Given the description of an element on the screen output the (x, y) to click on. 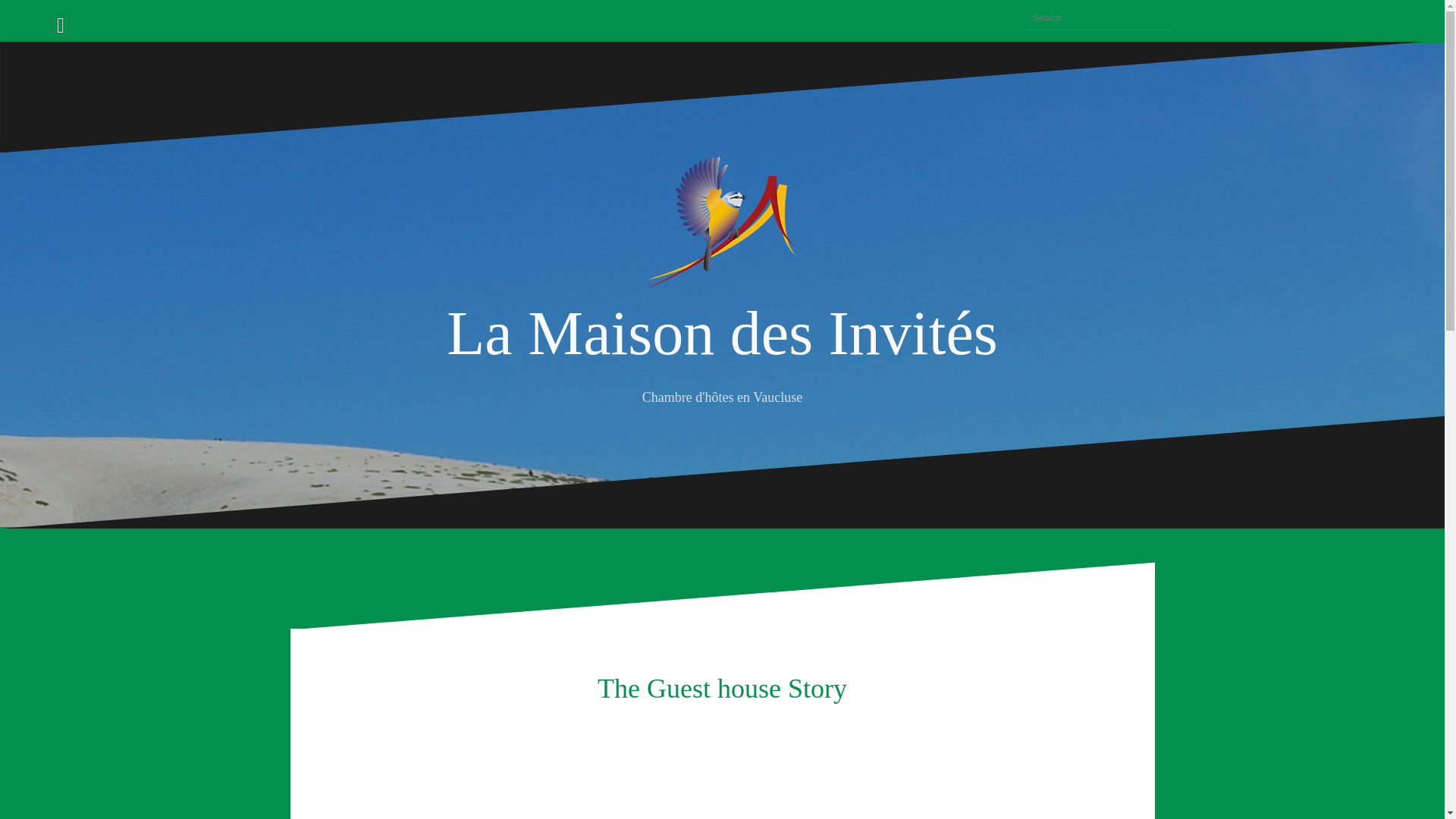
Search (30, 20)
